Given the description of an element on the screen output the (x, y) to click on. 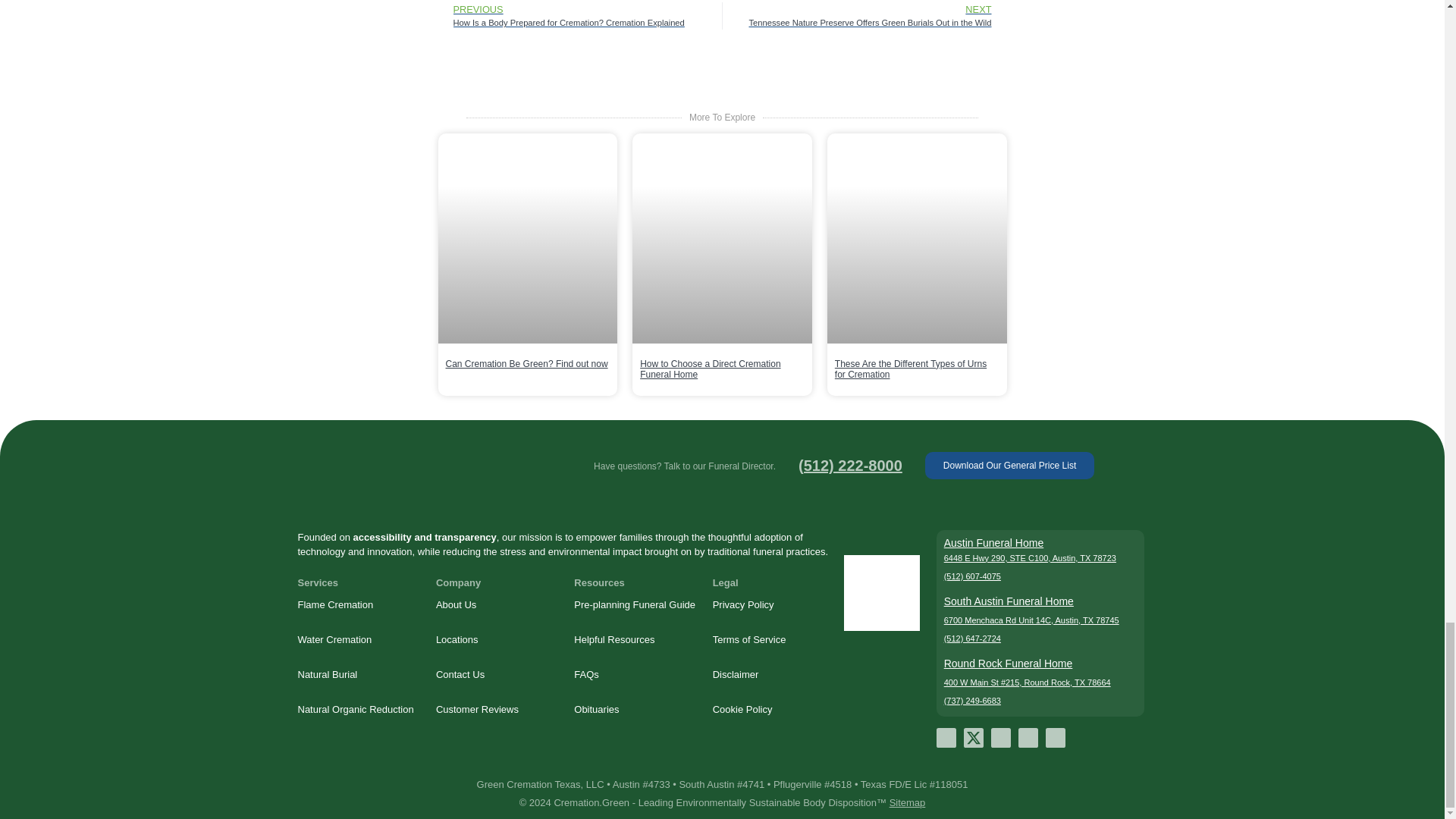
These Are the Different Types of Urns for Cremation (910, 369)
Can Cremation Be Green? Find out now (526, 363)
Flame Cremation (358, 605)
Download Our General Price List (1009, 465)
Water Cremation (358, 639)
Natural Organic Reduction (358, 709)
How to Choose a Direct Cremation Funeral Home (710, 369)
Natural Burial (358, 674)
